Given the description of an element on the screen output the (x, y) to click on. 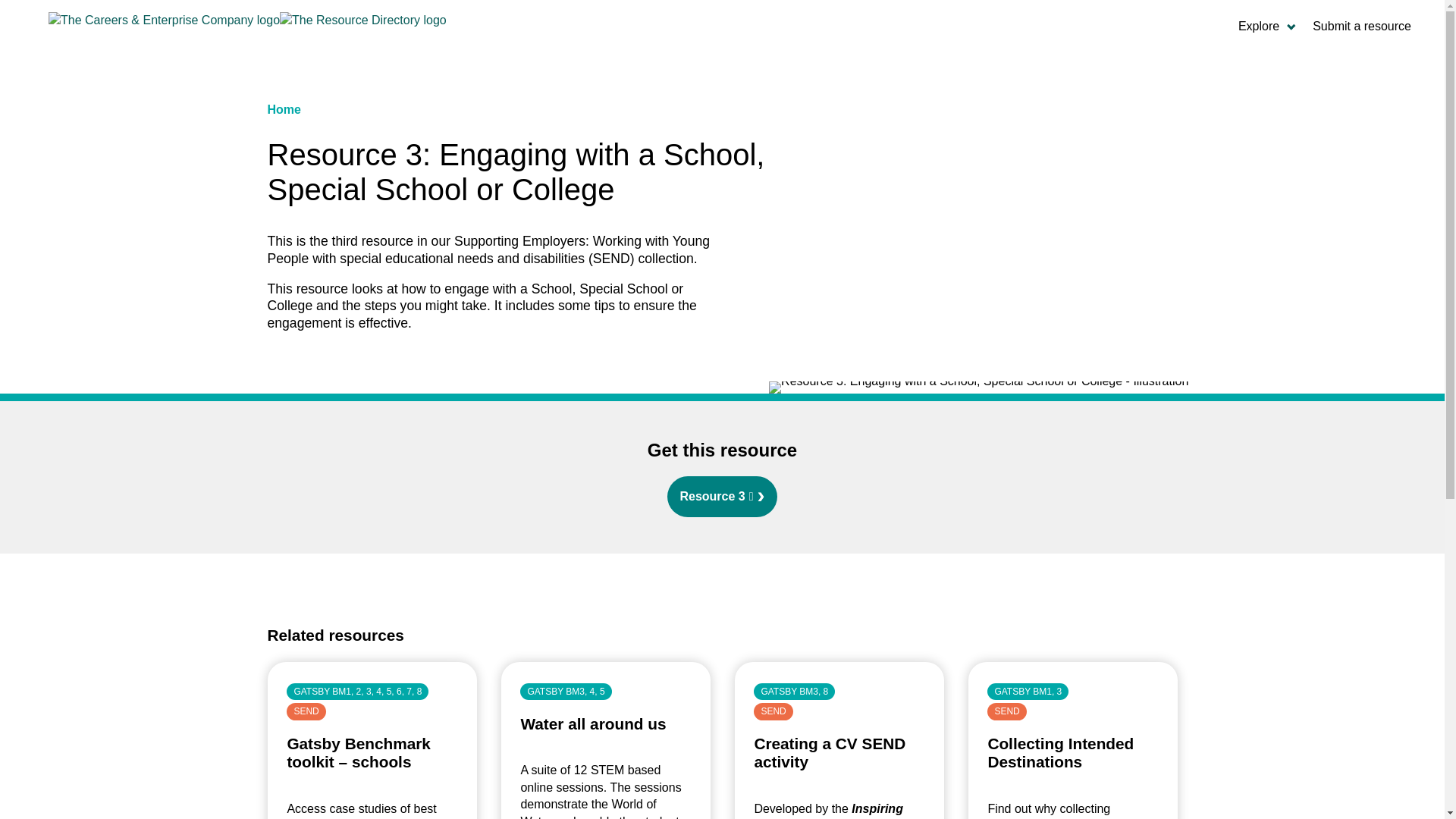
Water all around us (592, 723)
Home (282, 109)
Collecting Intended Destinations (1060, 752)
Explore (1265, 26)
Share to Linkedin (721, 589)
Share to Email (751, 589)
Share to X (691, 589)
Creating a CV SEND activity (829, 752)
Resource 3 (721, 495)
